Given the description of an element on the screen output the (x, y) to click on. 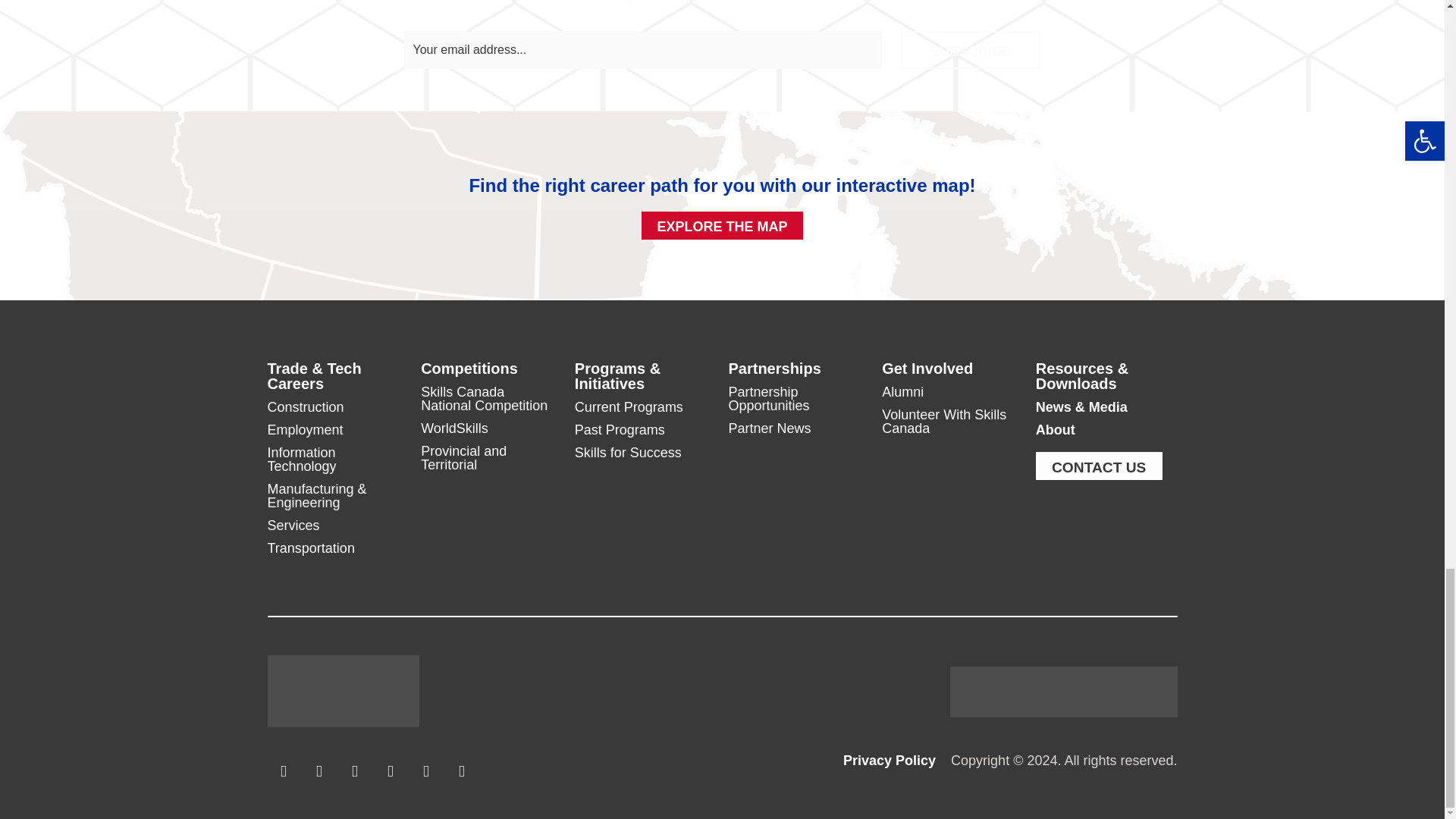
Skills Competences Canada on Facebook (282, 771)
Skills Competences Canada on Youtube (425, 771)
SUBSCRIBE (971, 49)
Skills Competences Canada on X Twitter (319, 771)
Skills Competences Canada on Flickr (390, 771)
Skills Competences Canada on Linkedin (354, 771)
Skills Competences Canada on Instagram (462, 771)
